Given the description of an element on the screen output the (x, y) to click on. 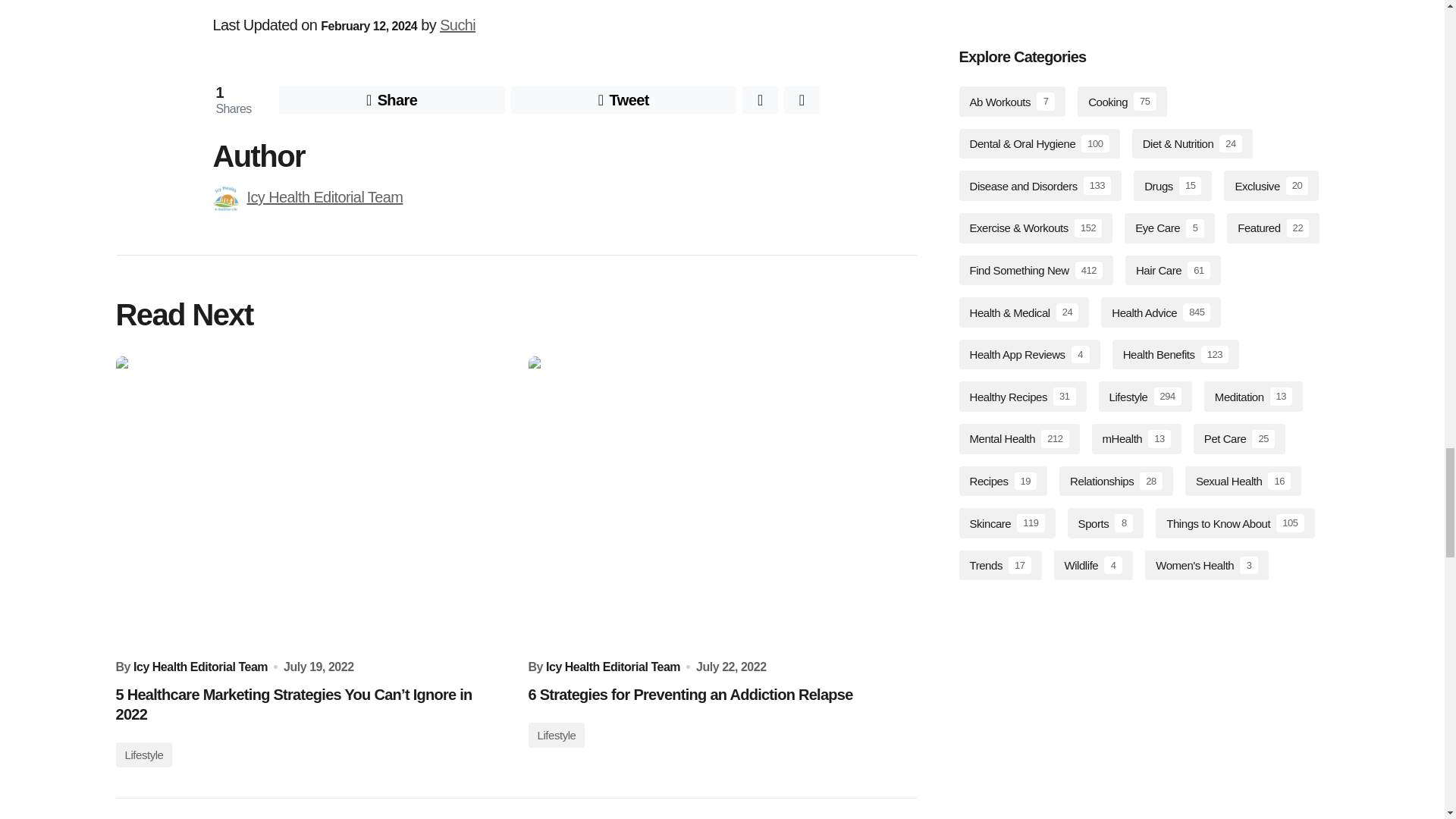
6 Strategies for Preventing an Addiction Relapse 6 (721, 501)
10 Tips for Selecting A Clarksville Personal Injury Lawyer 3 (225, 198)
Icy Health Editorial Team (325, 197)
